Given the description of an element on the screen output the (x, y) to click on. 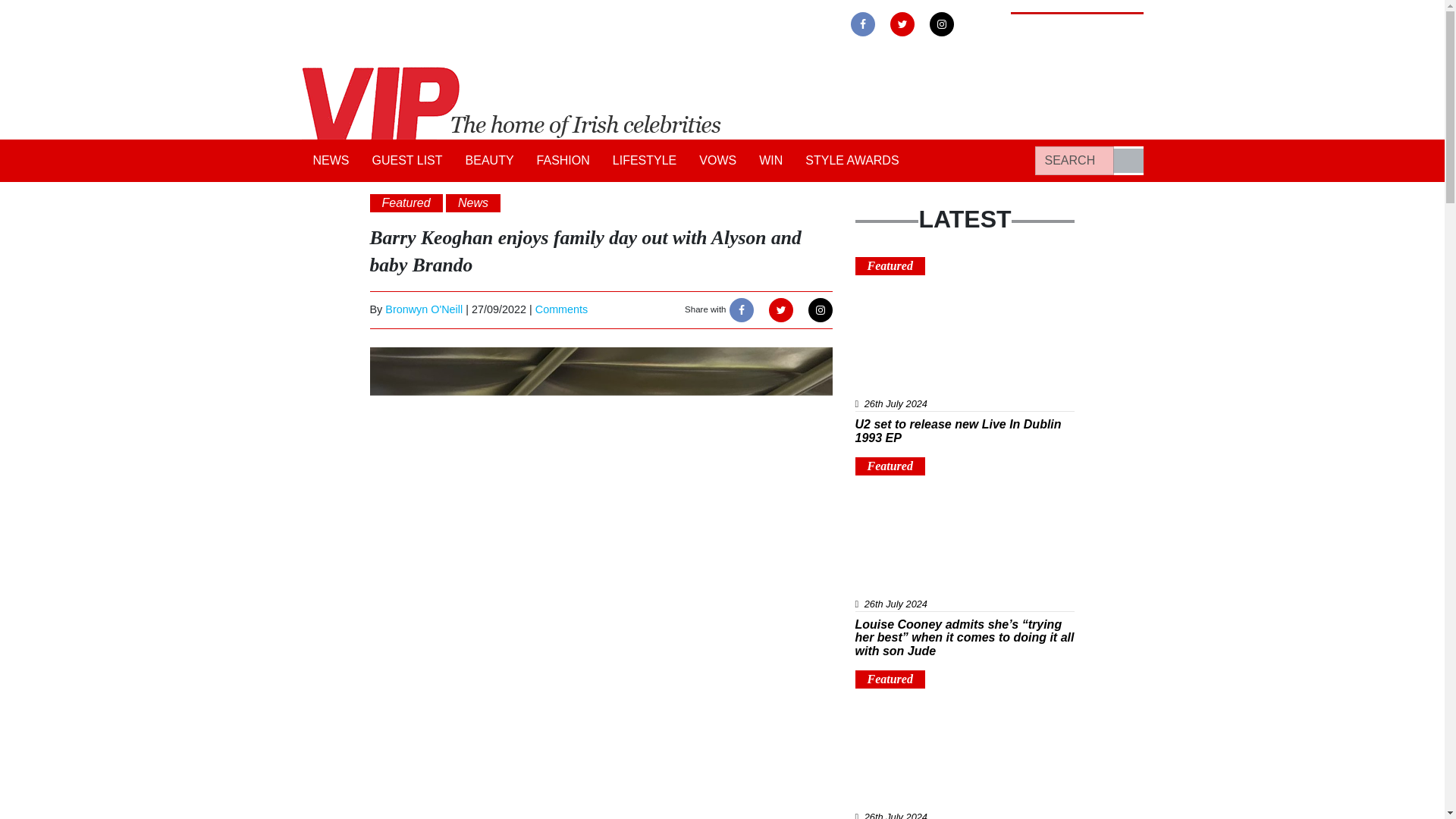
News (472, 203)
Featured (405, 203)
WIN (770, 160)
Bronwyn O'Neill (424, 309)
LIFESTYLE (644, 160)
BEAUTY (489, 160)
Comments (561, 309)
GUEST LIST (407, 160)
STYLE AWARDS (851, 160)
FASHION (563, 160)
NEWS (331, 160)
VOWS (717, 160)
